Given the description of an element on the screen output the (x, y) to click on. 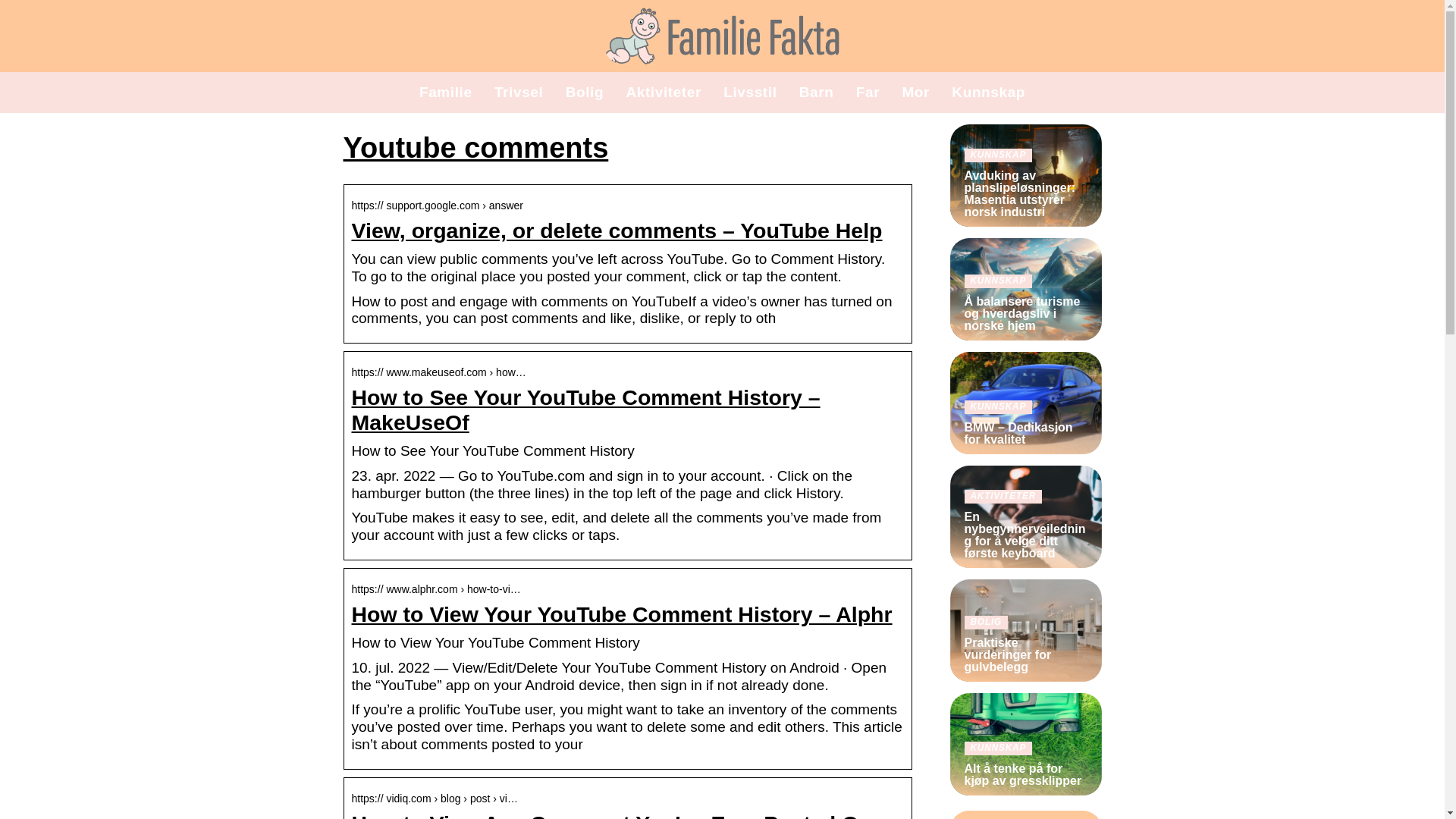
Aktiviteter (663, 91)
Barn (816, 91)
Bolig (585, 91)
Livsstil (749, 91)
Mor (915, 91)
Far (867, 91)
Familie (445, 91)
Kunnskap (988, 91)
Trivsel (519, 91)
